Given the description of an element on the screen output the (x, y) to click on. 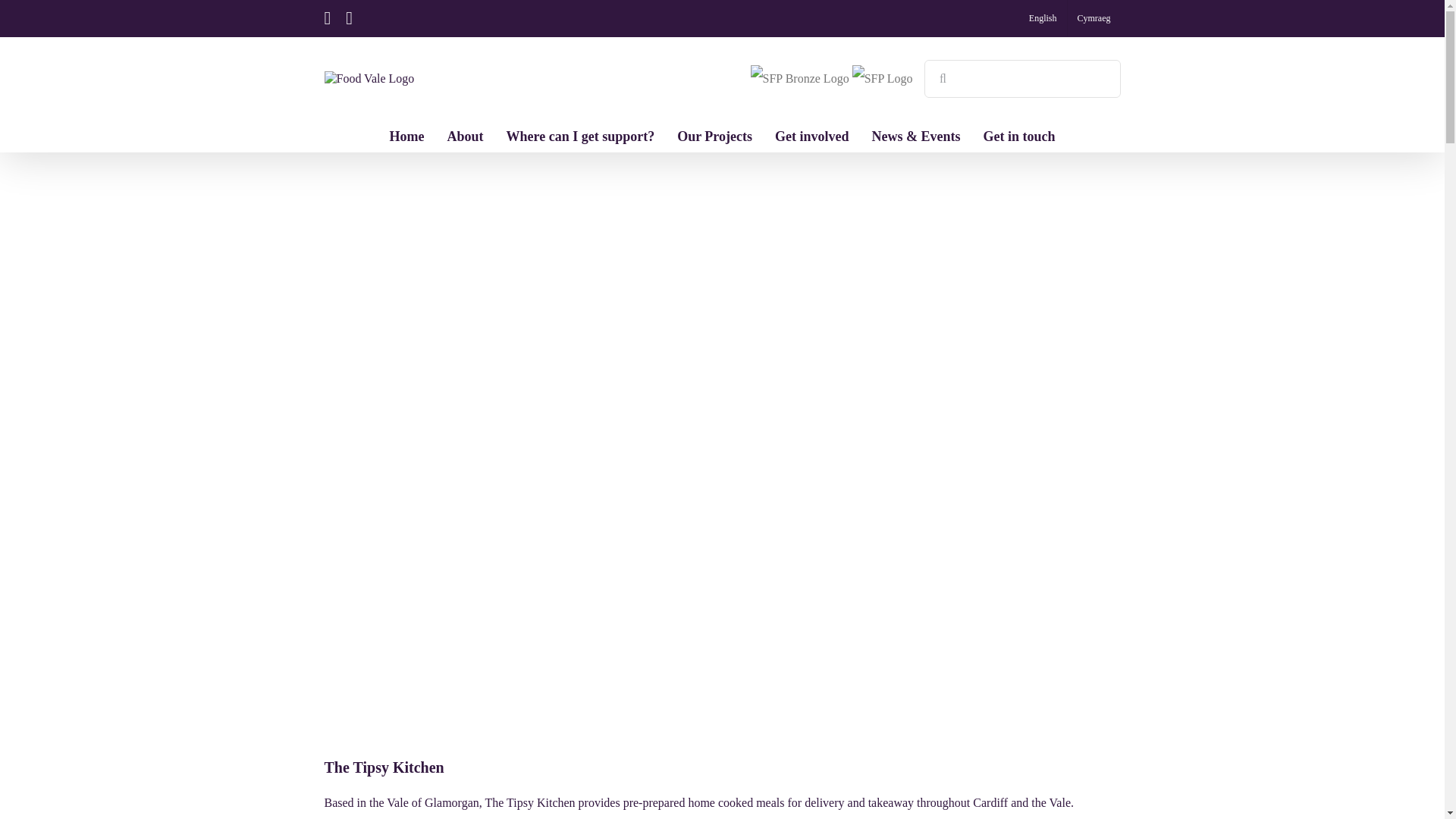
English (1043, 18)
Cymraeg (1094, 18)
Our Projects (714, 136)
Home (407, 136)
The Tipsy Kitchen (384, 767)
Cymraeg (1094, 18)
Where can I get support? (580, 136)
English (1043, 18)
About (464, 136)
Get involved (811, 136)
